Given the description of an element on the screen output the (x, y) to click on. 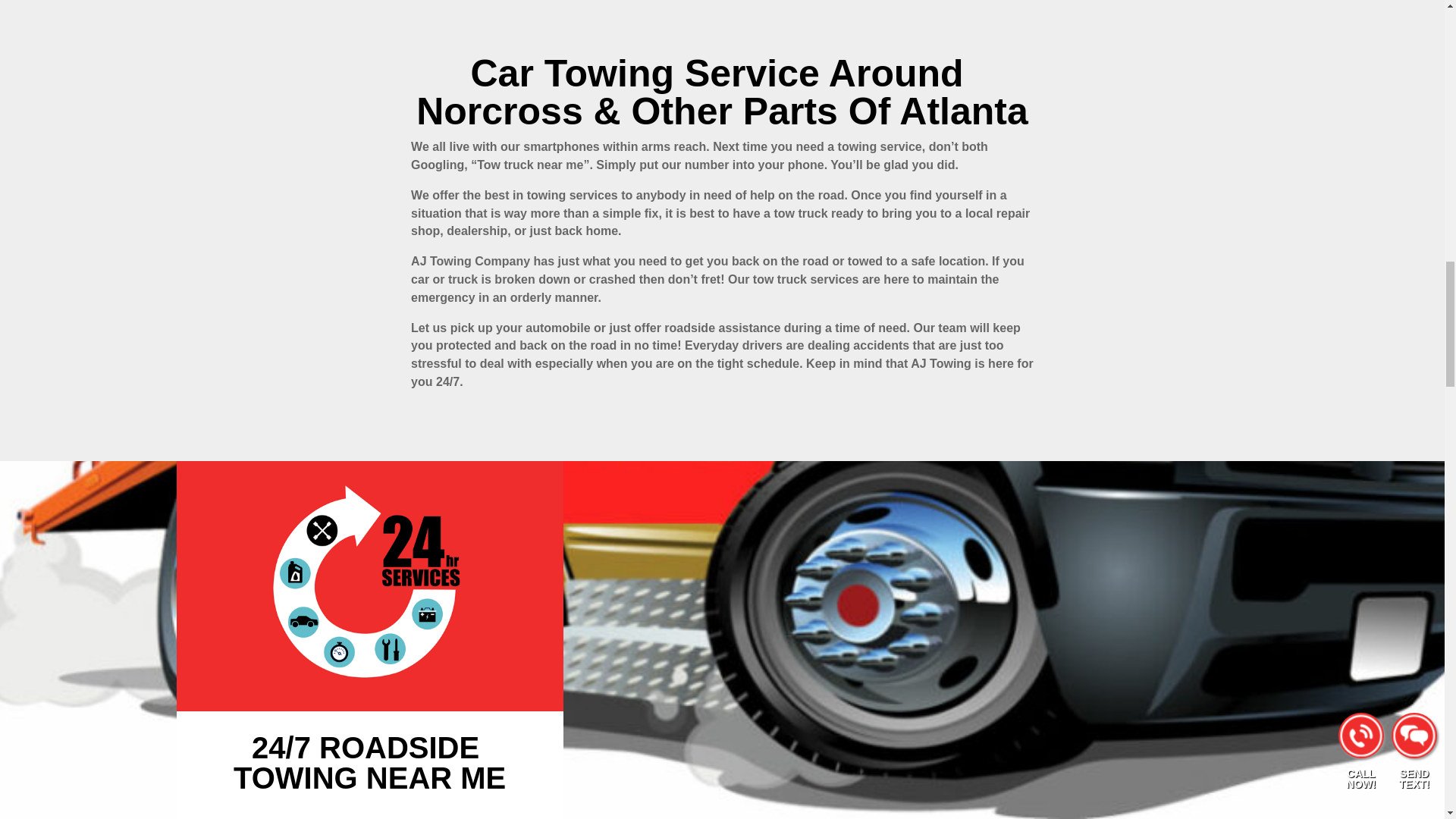
towing services Duluth GA (369, 586)
